Given the description of an element on the screen output the (x, y) to click on. 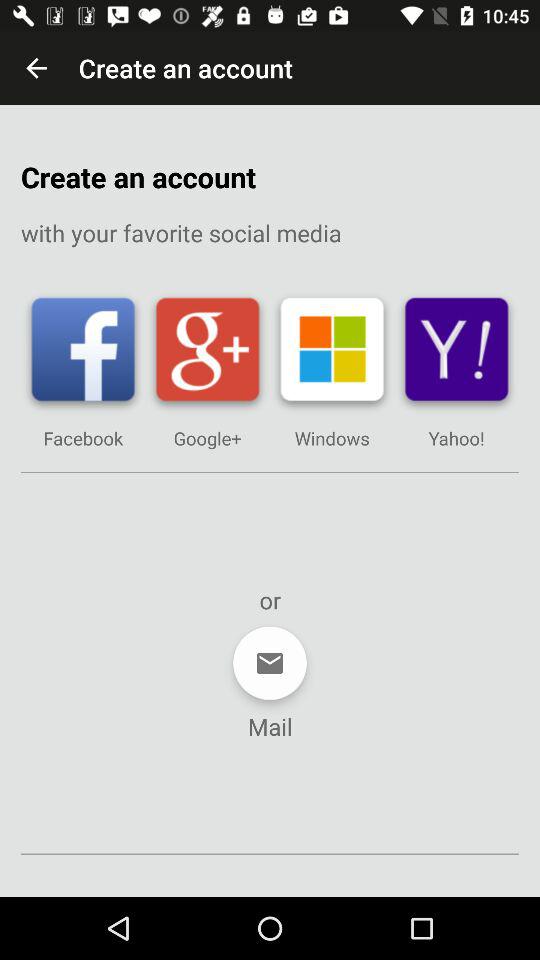
tap the icon above the create an account (36, 68)
